Given the description of an element on the screen output the (x, y) to click on. 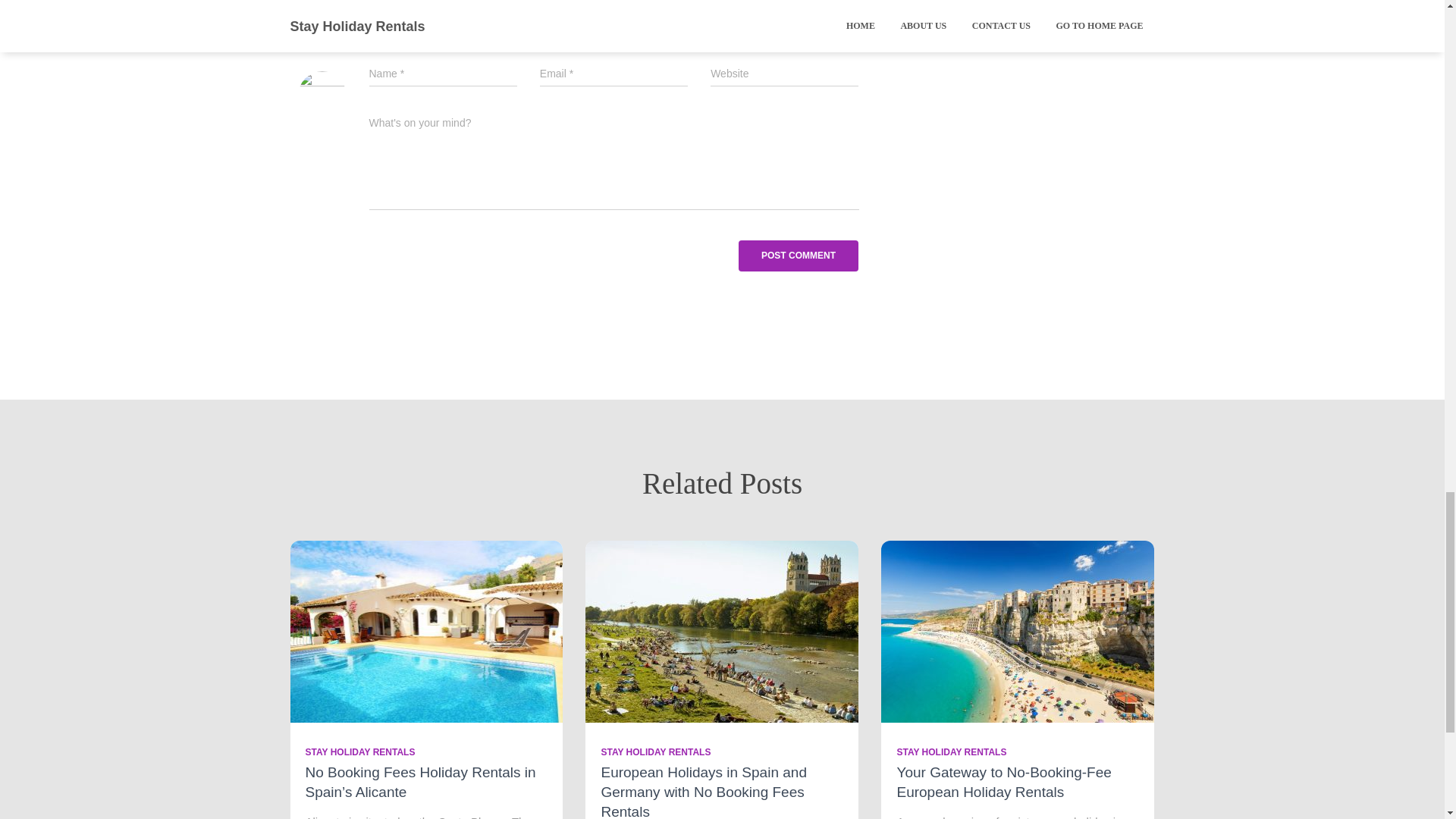
Post Comment (798, 255)
Post Comment (798, 255)
Your Gateway to No-Booking-Fee European Holiday Rentals (1017, 630)
View all posts in Stay Holiday Rentals (951, 751)
View all posts in Stay Holiday Rentals (654, 751)
View all posts in Stay Holiday Rentals (359, 751)
